Given the description of an element on the screen output the (x, y) to click on. 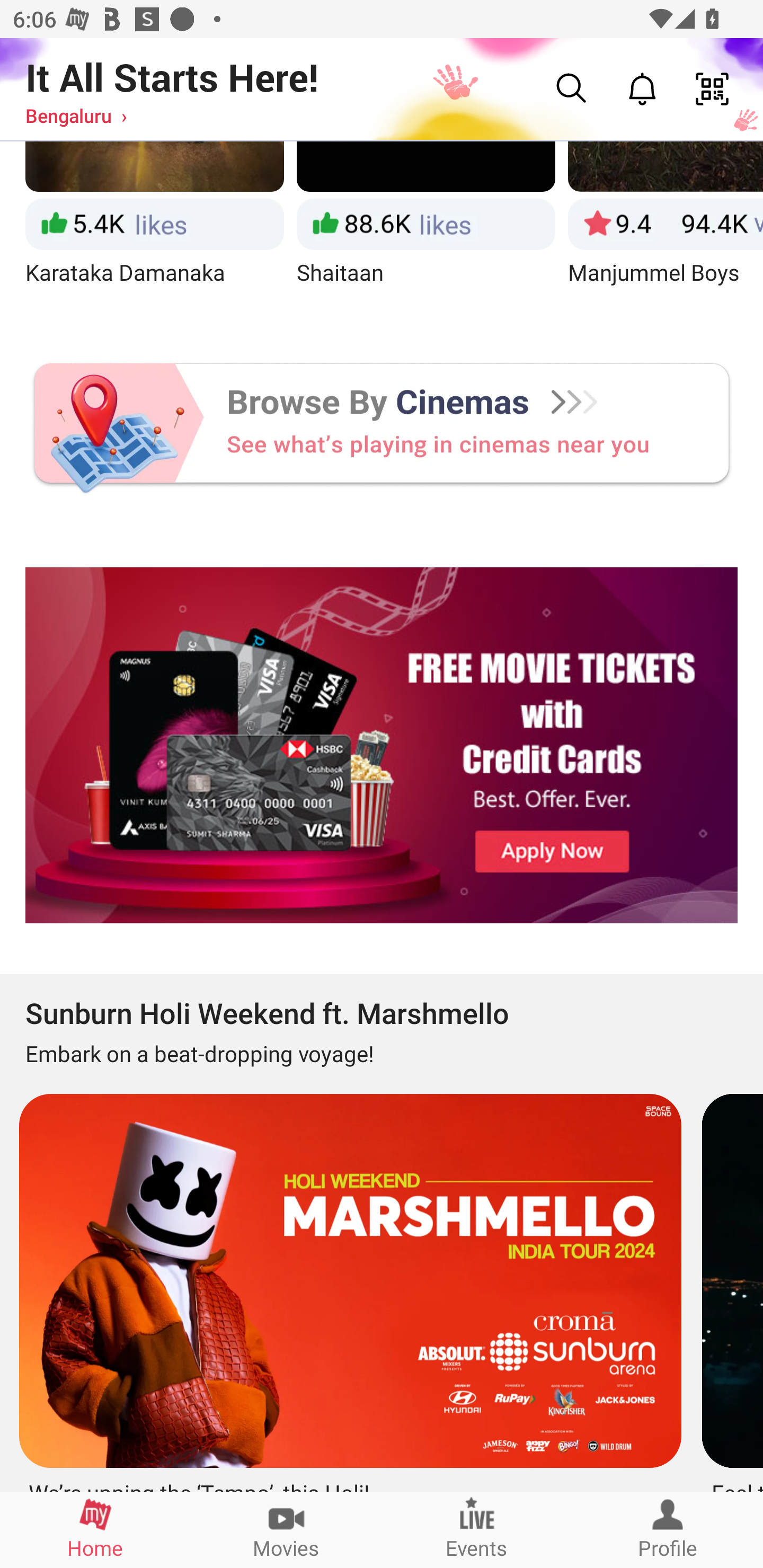
Bengaluru  › (76, 114)
Karataka Damanaka (154, 230)
Shaitaan (425, 230)
Manjummel Boys (665, 230)
We’re upping the ‘Tempo’, this Holi!  (347, 1286)
Home (95, 1529)
Movies (285, 1529)
Events (476, 1529)
Profile (667, 1529)
